Given the description of an element on the screen output the (x, y) to click on. 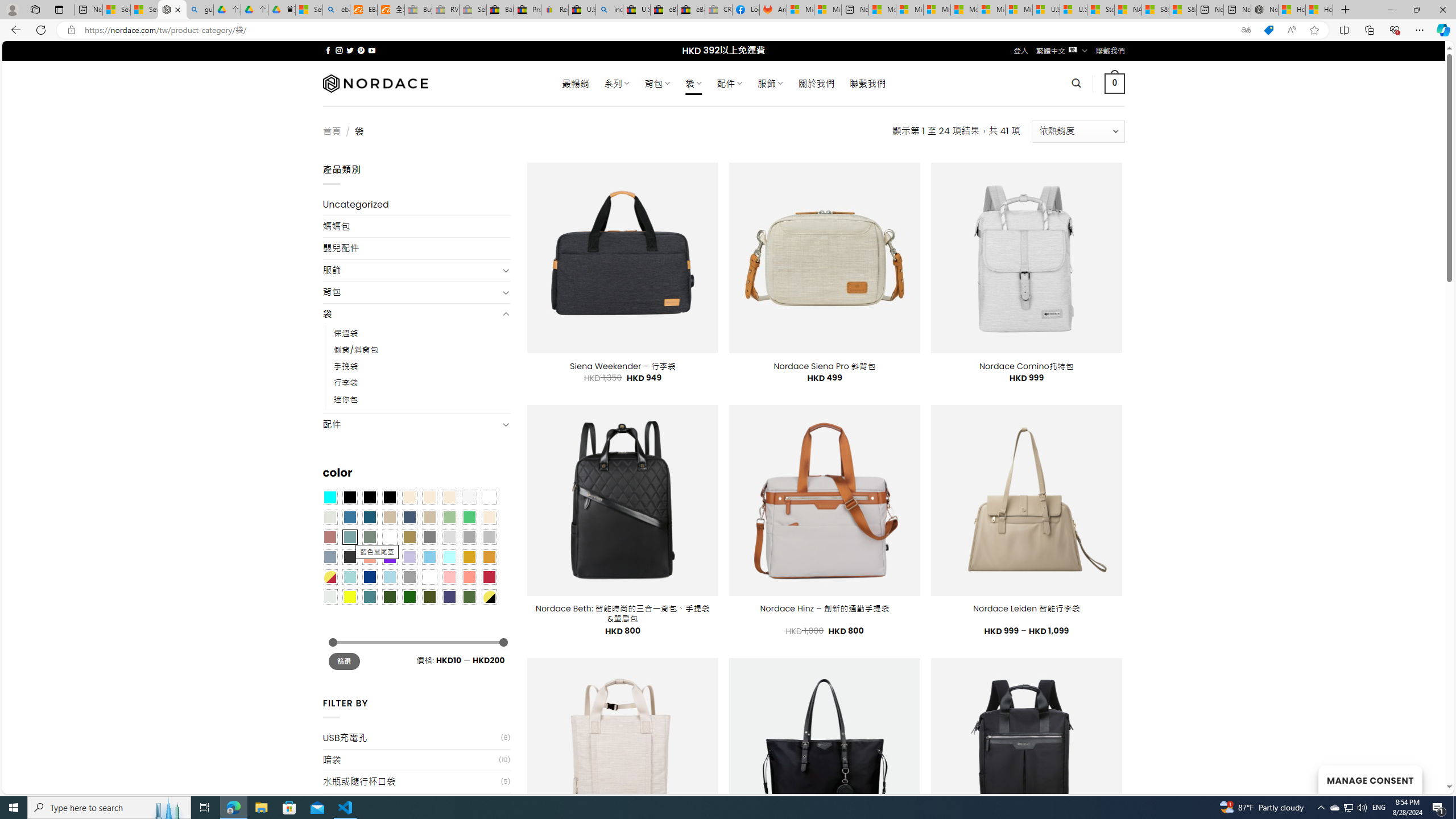
Sell worldwide with eBay - Sleeping (473, 9)
Browser essentials (1394, 29)
